Given the description of an element on the screen output the (x, y) to click on. 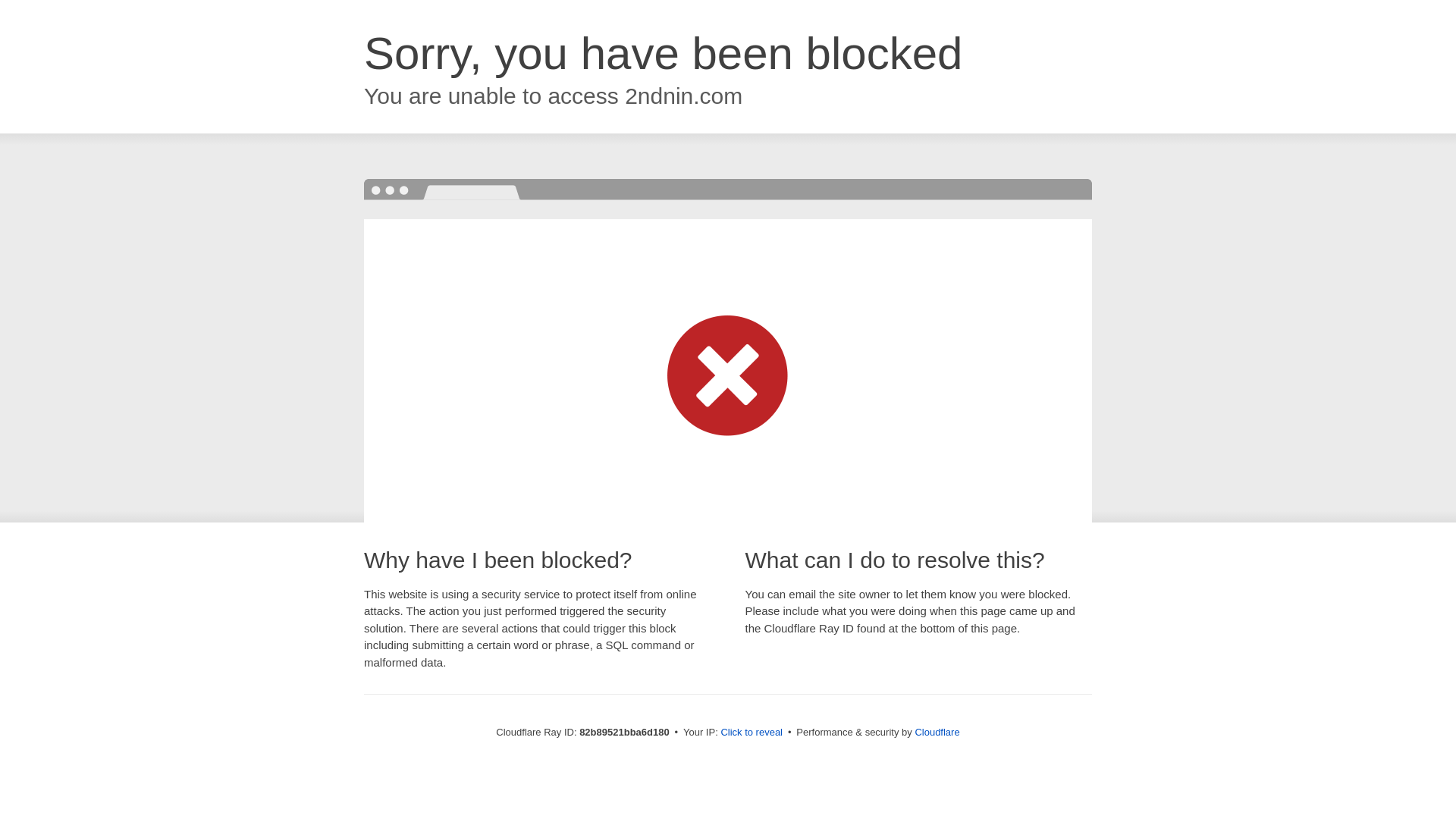
Click to reveal Element type: text (751, 732)
Cloudflare Element type: text (936, 731)
